Given the description of an element on the screen output the (x, y) to click on. 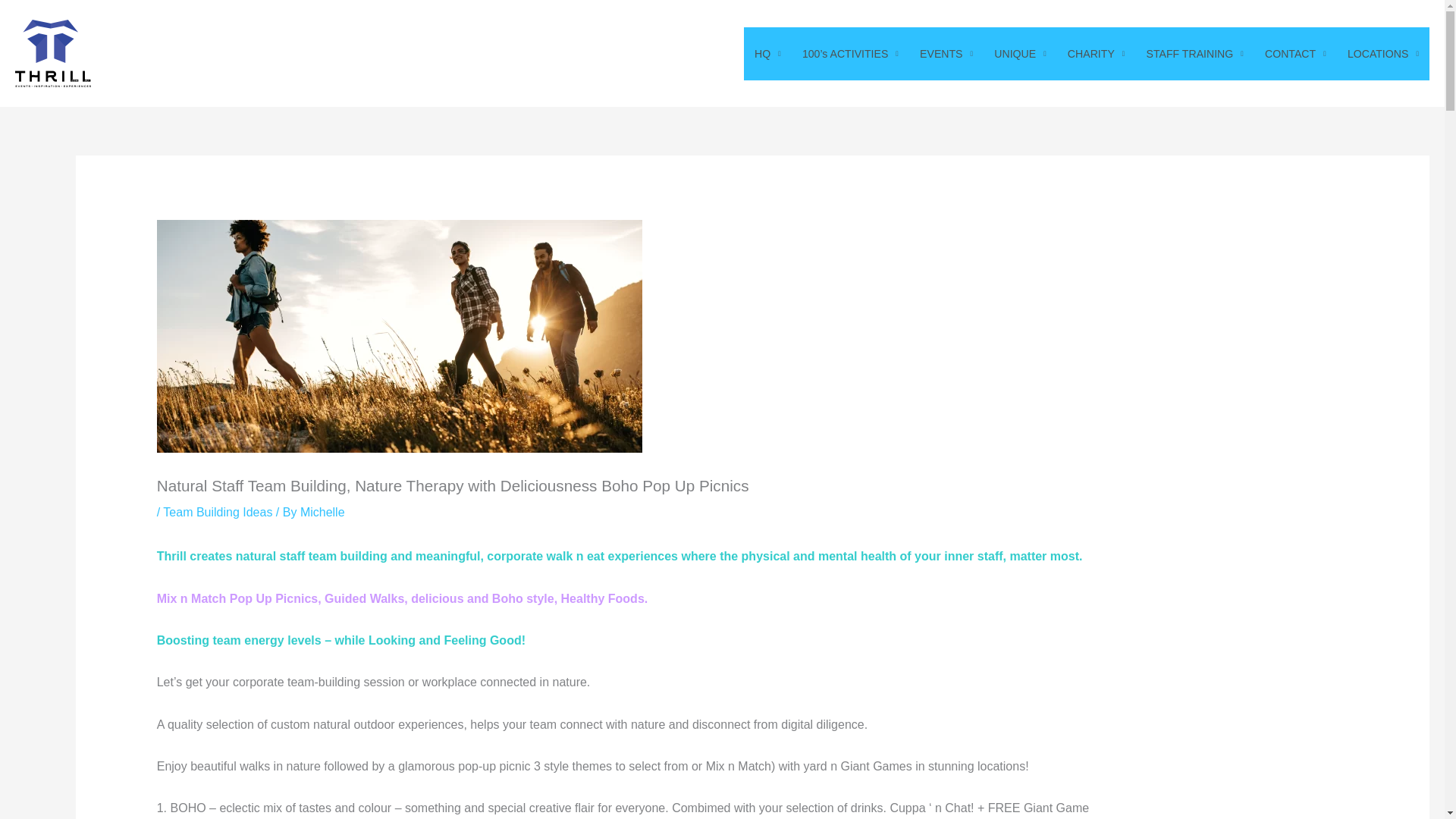
View all posts by Michelle (322, 512)
HQ (768, 53)
CONTACT US (1294, 53)
IDEAS (1020, 53)
